Given the description of an element on the screen output the (x, y) to click on. 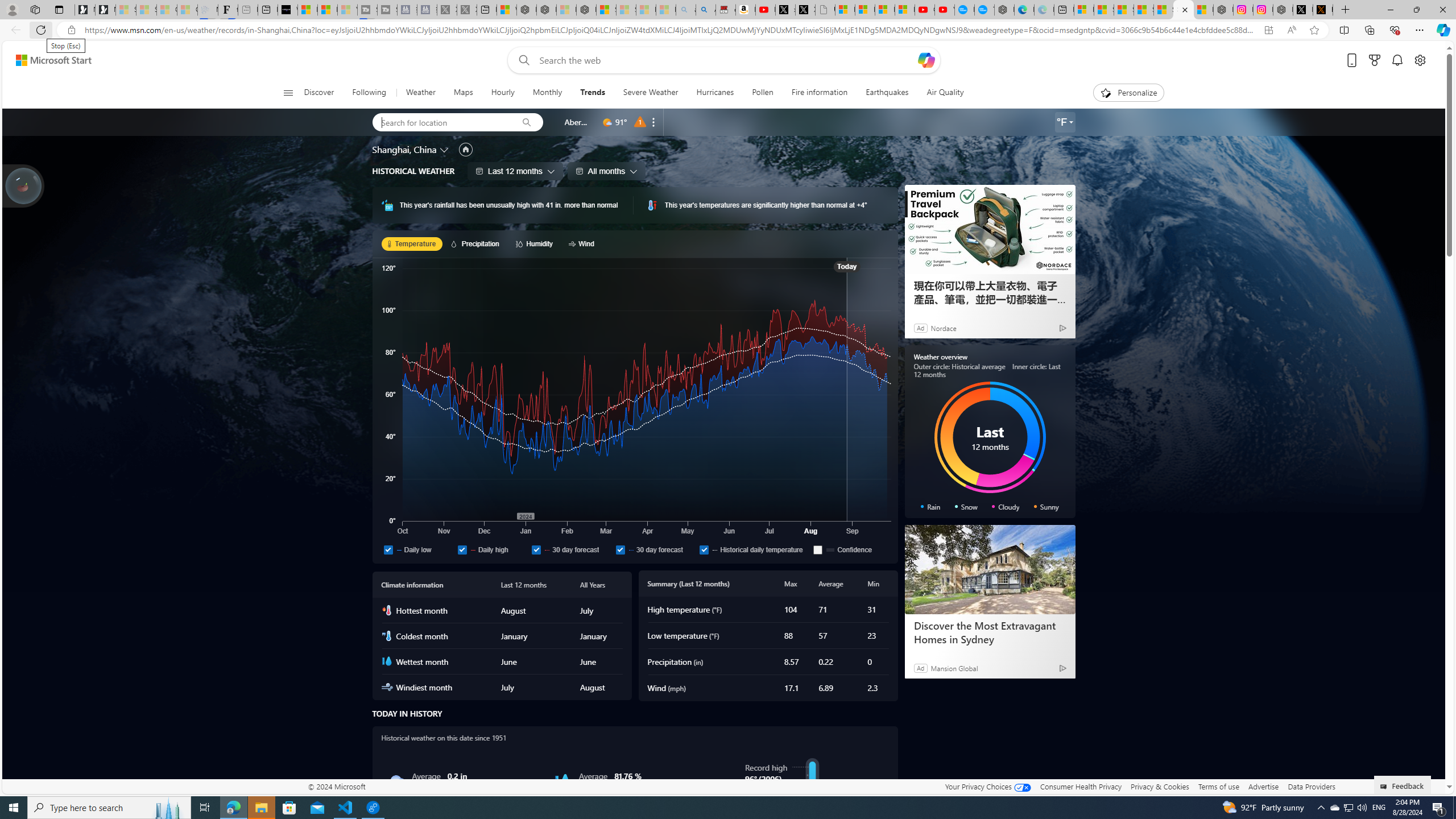
Discover (319, 92)
Microsoft Start Sports (306, 9)
Daily low (387, 549)
New Tab (1346, 9)
Join us in planting real trees to help our planet! (23, 184)
Humidity (562, 781)
Tab actions menu (58, 9)
30 day forecast (619, 549)
Air Quality (944, 92)
Historical daily temperature (703, 549)
Discover the Most Extravagant Homes in Sydney (989, 569)
Hurricanes (715, 92)
Join us in planting real trees to help our planet! (23, 185)
Your Privacy Choices (987, 785)
